Given the description of an element on the screen output the (x, y) to click on. 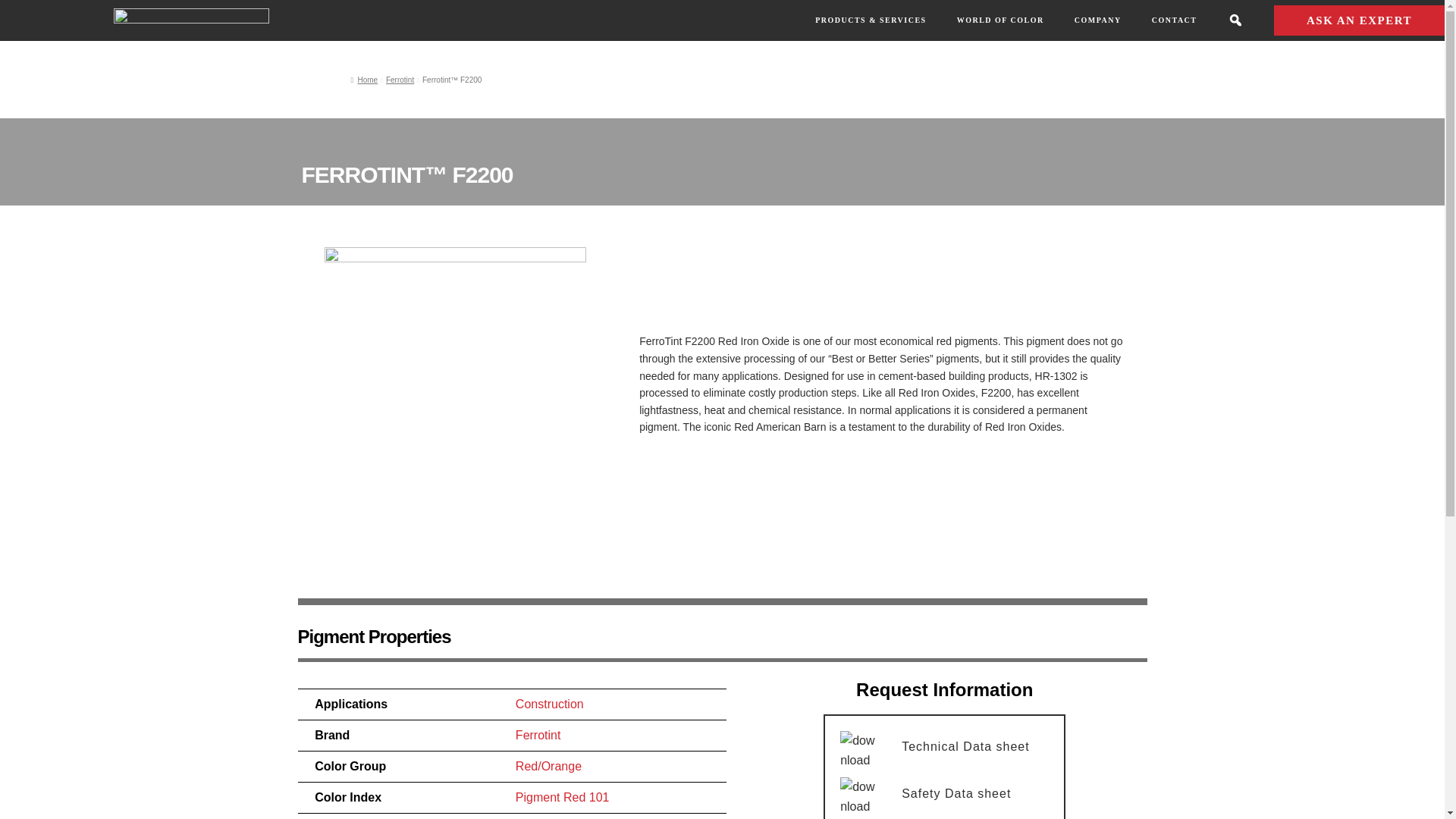
WORLD OF COLOR (999, 20)
Construction (549, 703)
download (859, 796)
Home (363, 80)
CONTACT (1173, 20)
COMPANY (1097, 20)
Pigment Red 101 (562, 797)
Ferrotint (399, 80)
Ferrotint (537, 735)
download (859, 750)
